Given the description of an element on the screen output the (x, y) to click on. 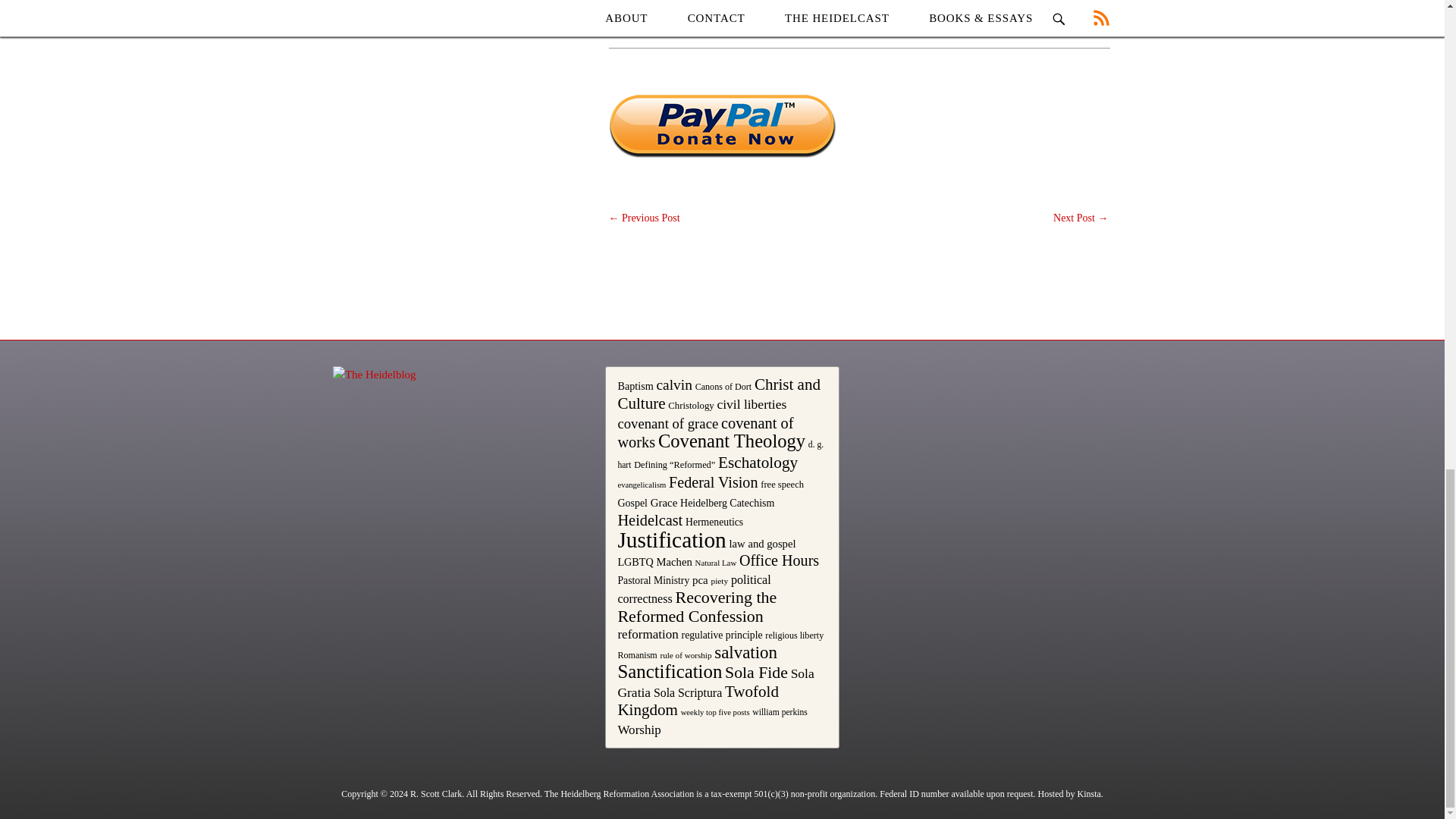
Christian Liberty (698, 26)
Support the Heidelblog! (721, 126)
HeidelQuotes (770, 26)
Rule of Worship (840, 26)
Sola Scriptura (909, 26)
